Given the description of an element on the screen output the (x, y) to click on. 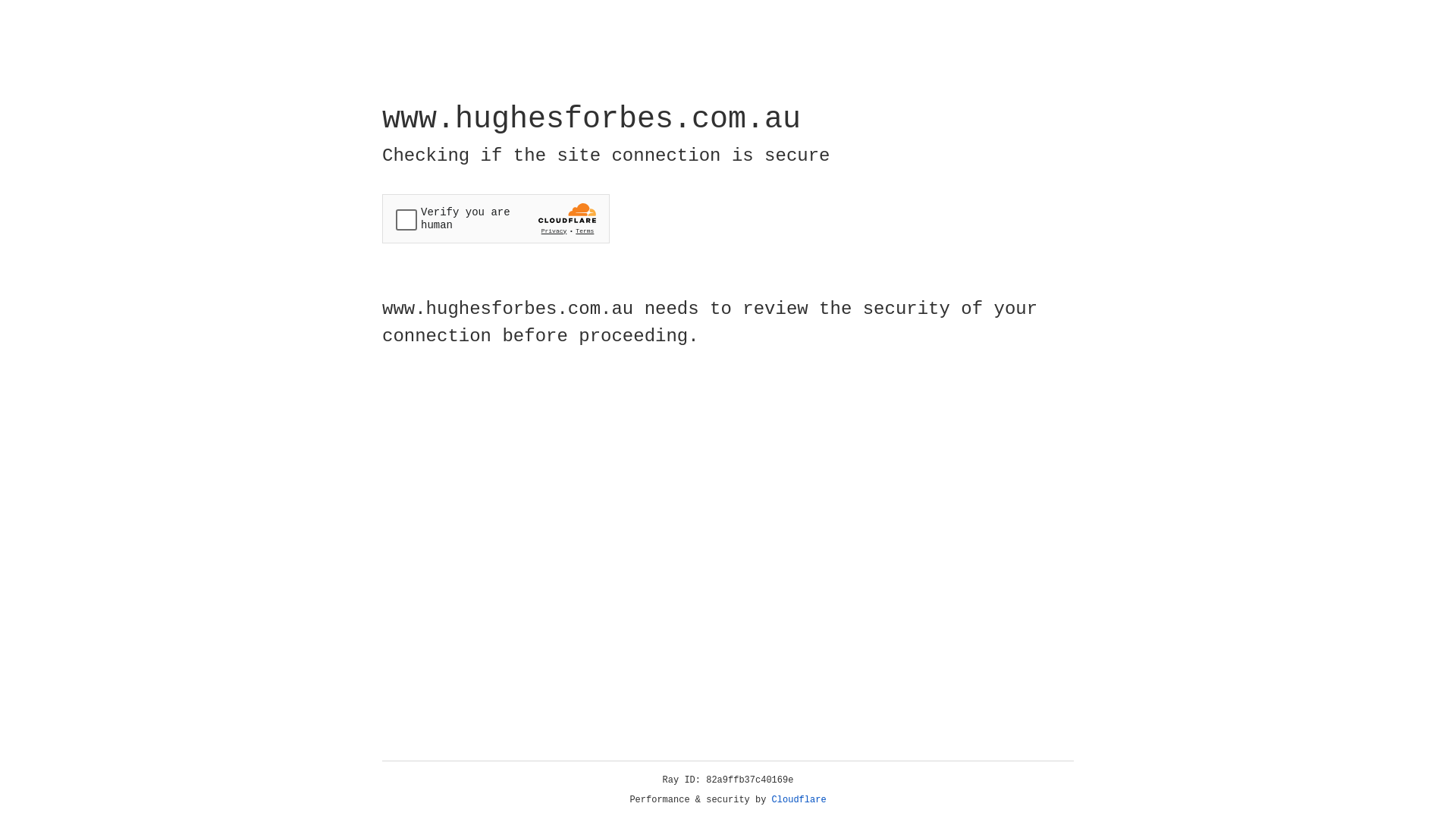
Cloudflare Element type: text (798, 799)
Widget containing a Cloudflare security challenge Element type: hover (495, 218)
